Given the description of an element on the screen output the (x, y) to click on. 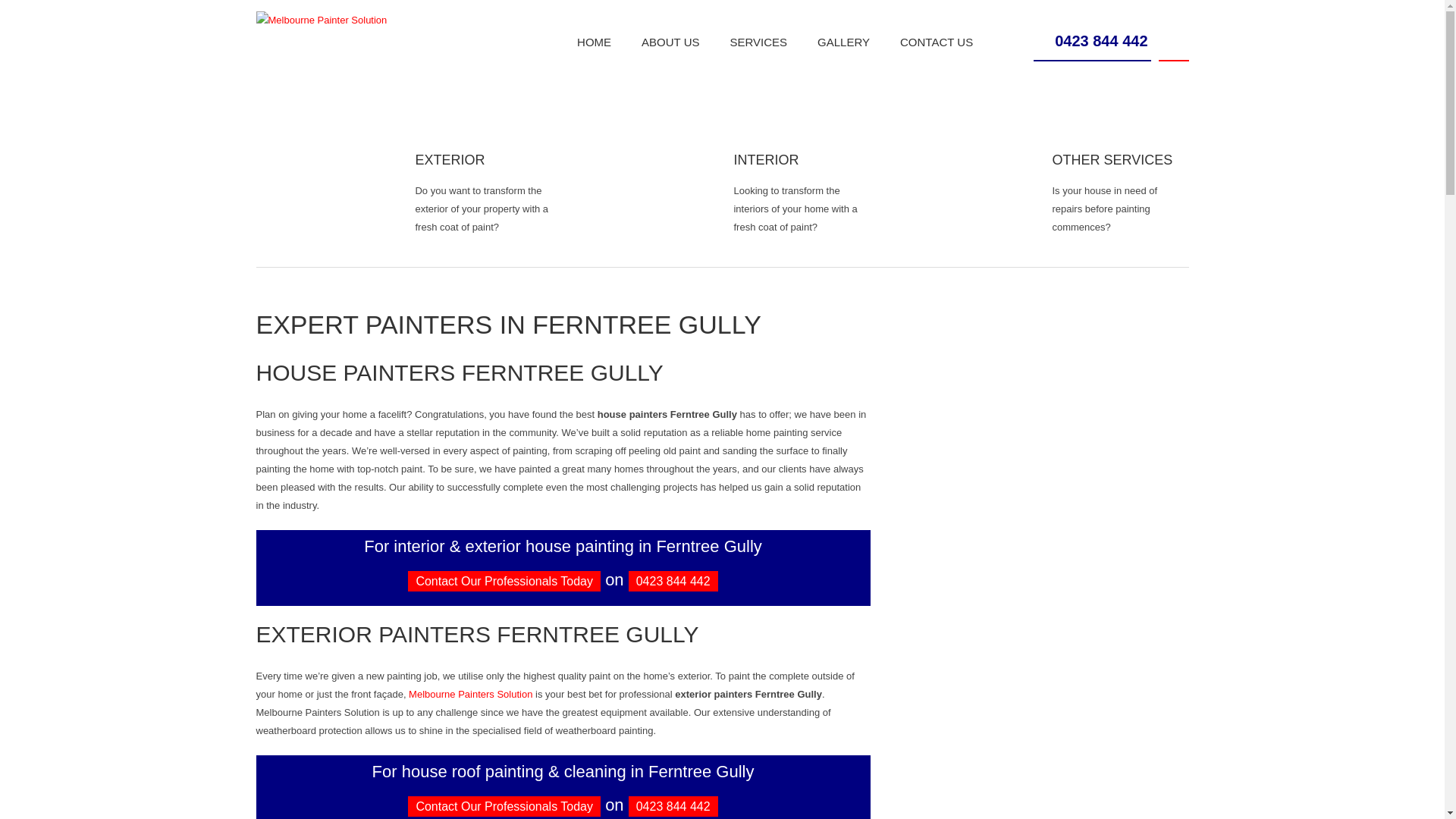
0423 844 442 (1091, 40)
Exterior (449, 165)
0423 844 442 (672, 580)
Home (641, 32)
Exterior House Painters Melbourne (1007, 354)
Other Services (1111, 165)
Image (1007, 581)
INTERIOR (765, 165)
0423 844 442 (672, 806)
0423 844 442 (1091, 40)
Exterior House Painters Melbourne (1007, 468)
Service Areas (704, 32)
EXTERIOR (449, 165)
Melbourne Painter Solution (321, 19)
Home (641, 32)
